Given the description of an element on the screen output the (x, y) to click on. 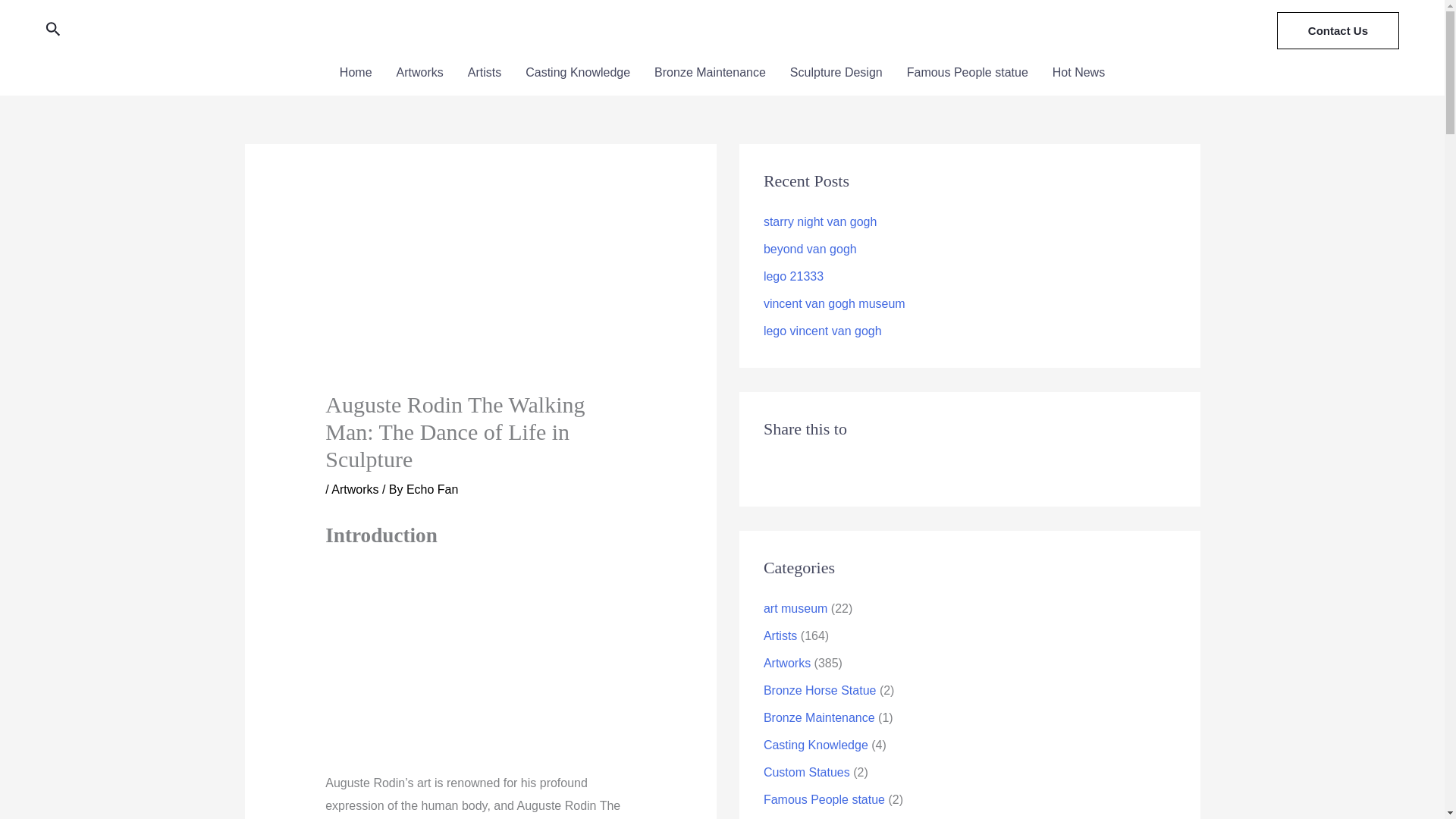
Sculpture Design (836, 72)
Hot News (1078, 72)
Artworks (419, 72)
Echo Fan (432, 489)
Famous People statue (968, 72)
Casting Knowledge (577, 72)
View all posts by Echo Fan (432, 489)
Artworks (354, 489)
Bronze Maintenance (709, 72)
Contact Us (1337, 30)
Home (355, 72)
Artists (484, 72)
